Given the description of an element on the screen output the (x, y) to click on. 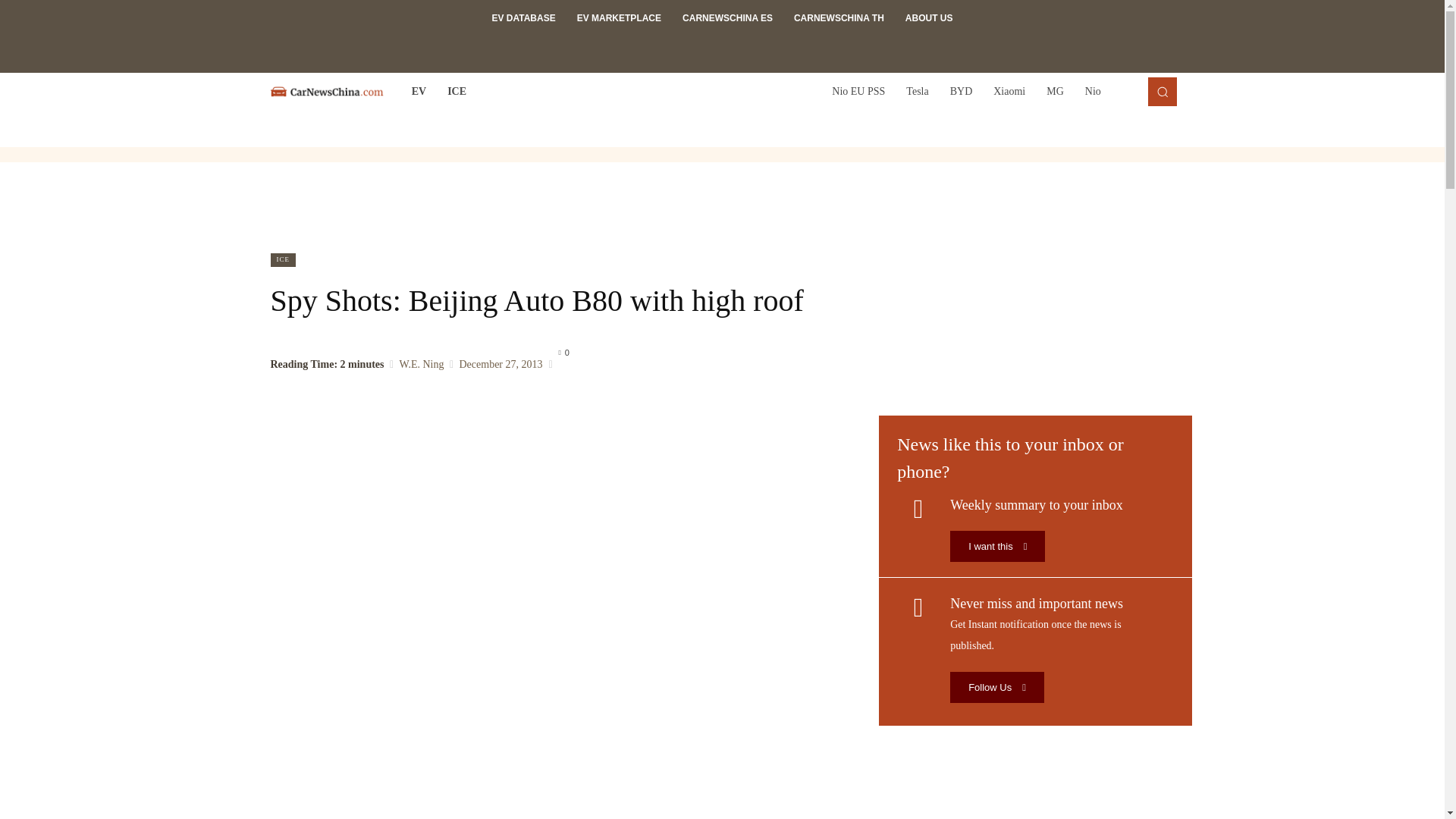
EV (418, 91)
Nio (1093, 91)
Nio EU PSS (858, 91)
Tesla (917, 91)
EV MARKETPLACE (618, 18)
CARNEWSCHINA ES (727, 18)
CARNEWSCHINA TH (839, 18)
ICE (456, 91)
Xiaomi (1008, 91)
ABOUT US (929, 18)
